Given the description of an element on the screen output the (x, y) to click on. 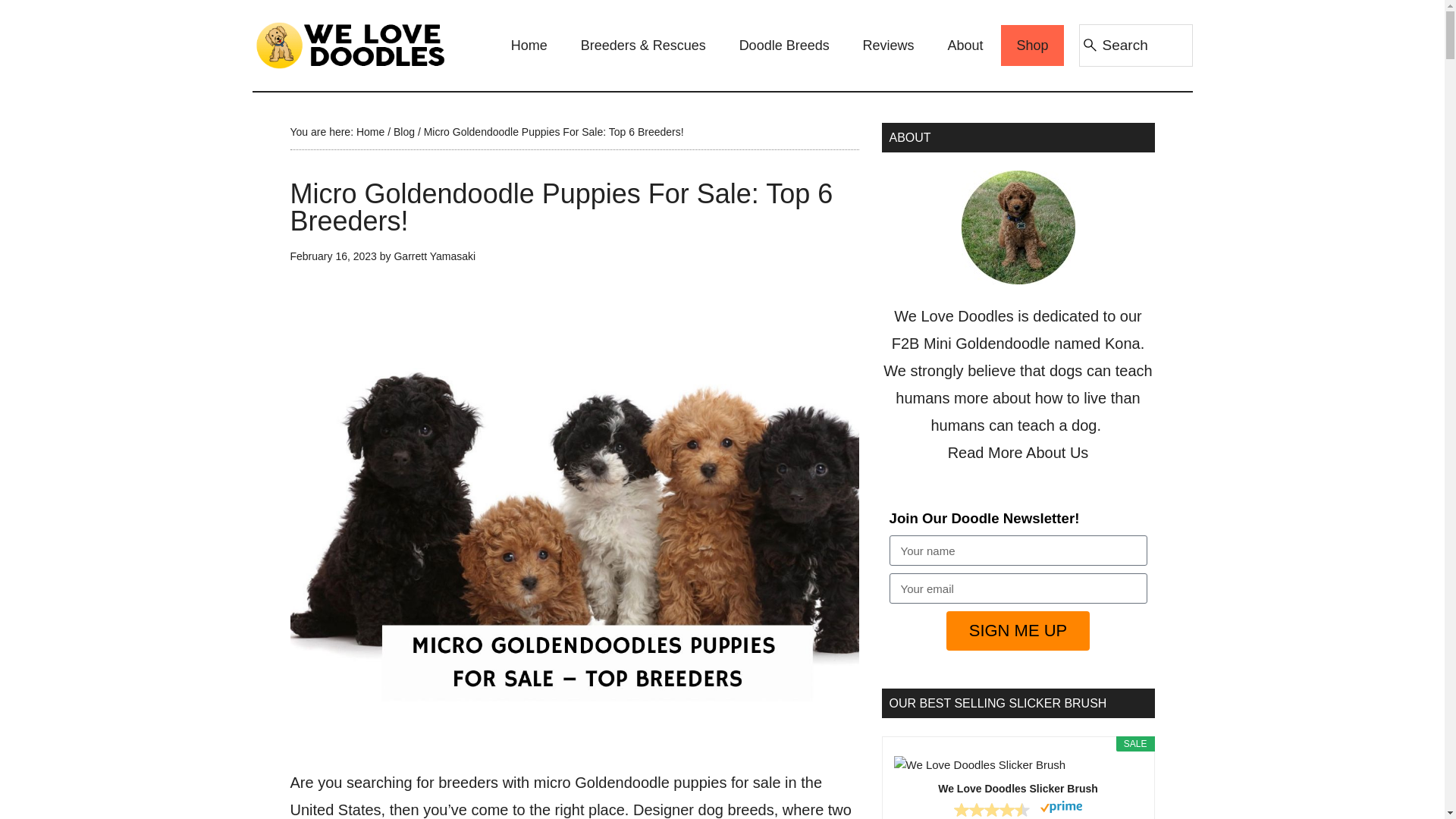
Blog (403, 132)
We Love Doodles Slicker Brush (1017, 764)
Garrett Yamasaki (434, 256)
About (965, 45)
Shop (1031, 45)
Doodle Breeds (783, 45)
Home (370, 132)
